Given the description of an element on the screen output the (x, y) to click on. 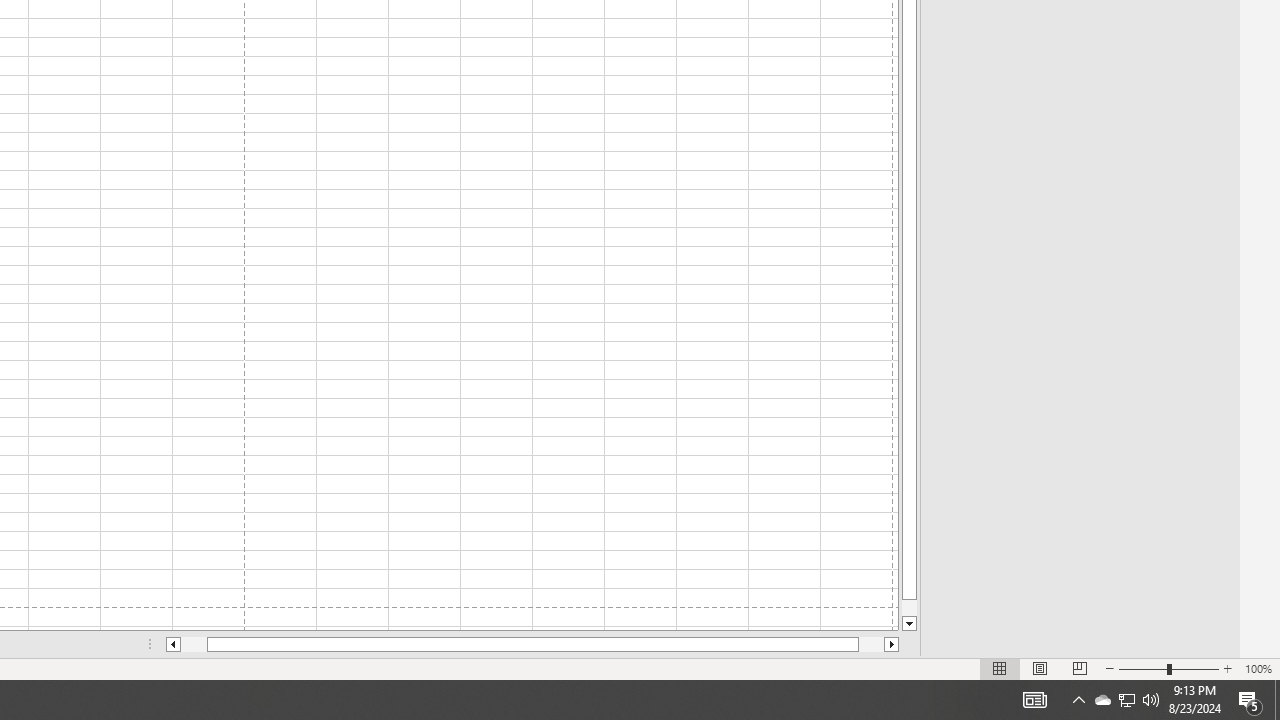
Page left (193, 644)
